Given the description of an element on the screen output the (x, y) to click on. 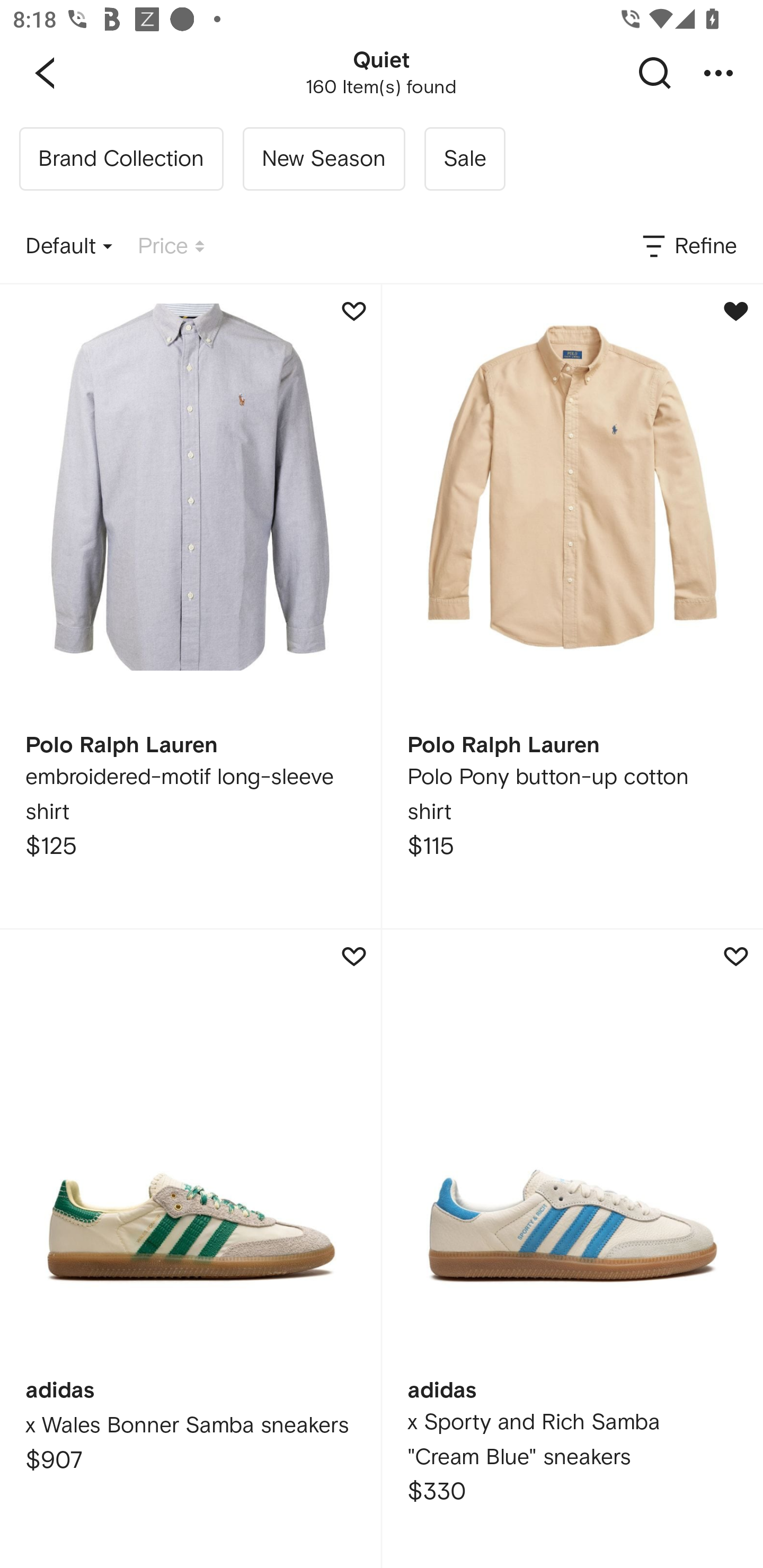
Brand Collection (121, 158)
New Season (323, 158)
Sale (464, 158)
Default (68, 246)
Price (171, 246)
Refine (688, 246)
adidas x Wales Bonner Samba sneakers $907 (190, 1248)
